Given the description of an element on the screen output the (x, y) to click on. 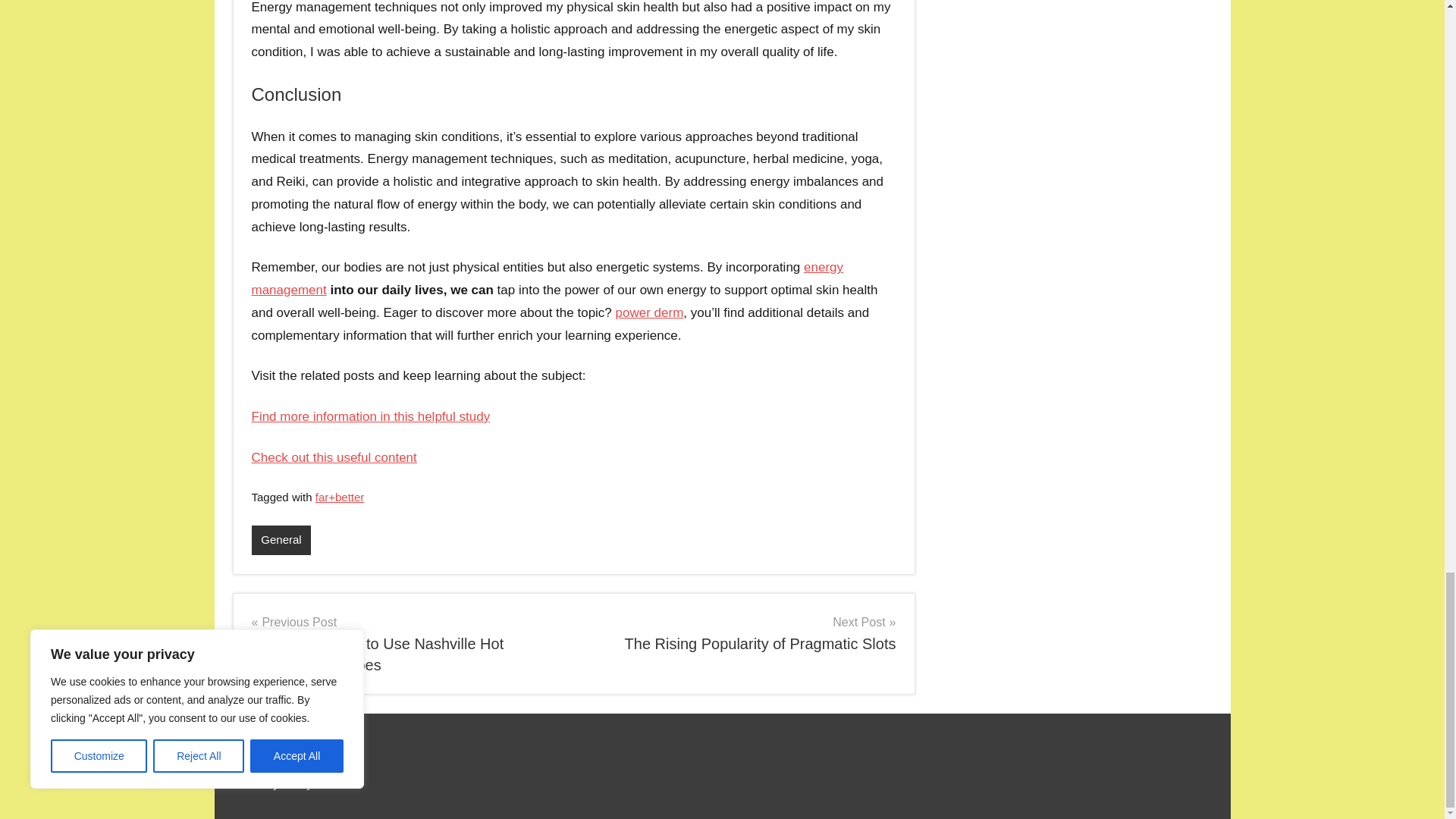
energy management (547, 278)
Find more information in this helpful study (370, 416)
Check out this useful content (333, 457)
General (740, 632)
power derm (281, 540)
